Given the description of an element on the screen output the (x, y) to click on. 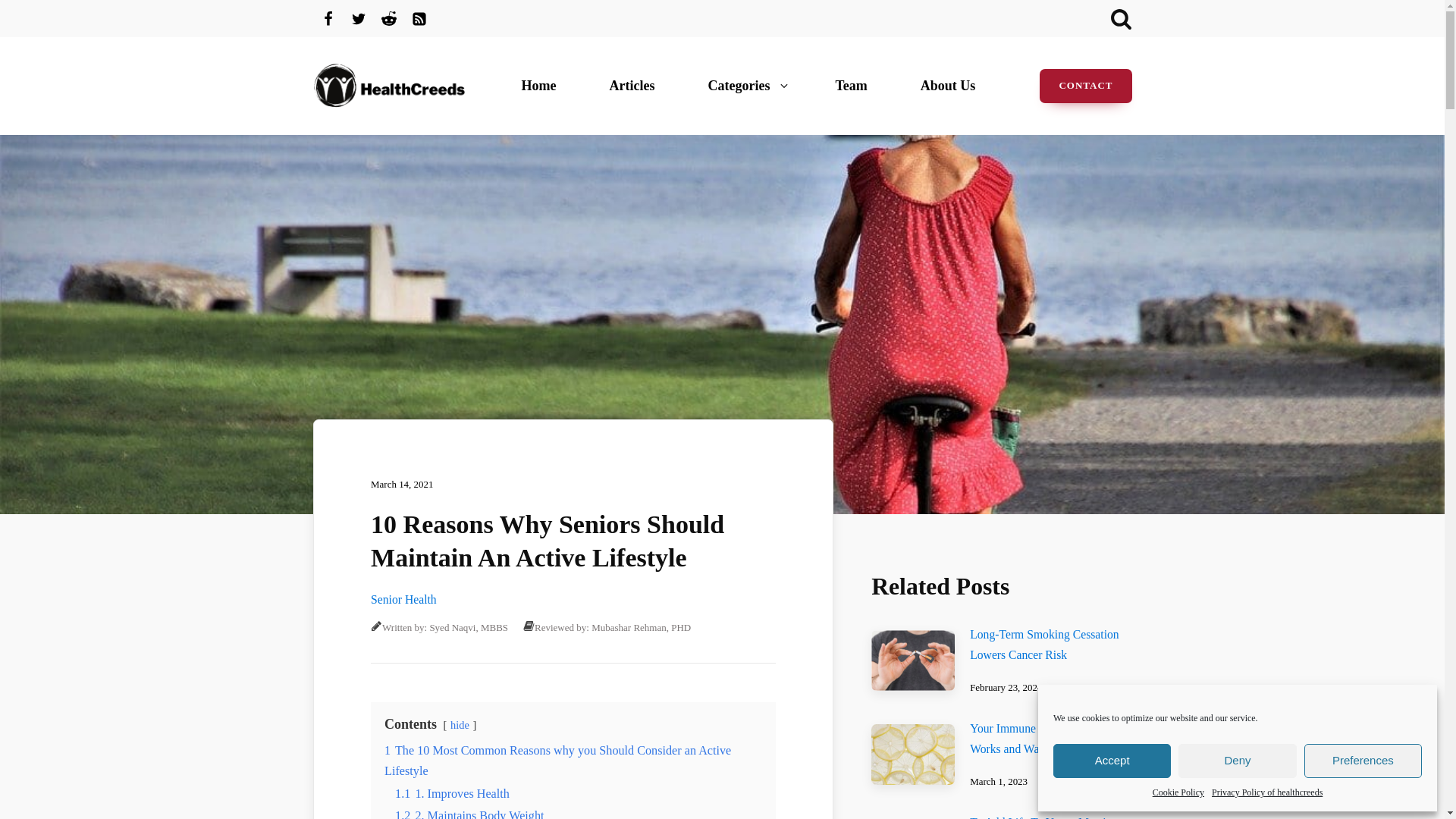
About Us (952, 86)
Team (855, 86)
Cookie Policy (1178, 792)
Deny (1236, 760)
Search (31, 13)
Privacy Policy of healthcreeds (1266, 792)
Articles (636, 86)
Accept (1111, 760)
Home (542, 86)
Preferences (1363, 760)
